Given the description of an element on the screen output the (x, y) to click on. 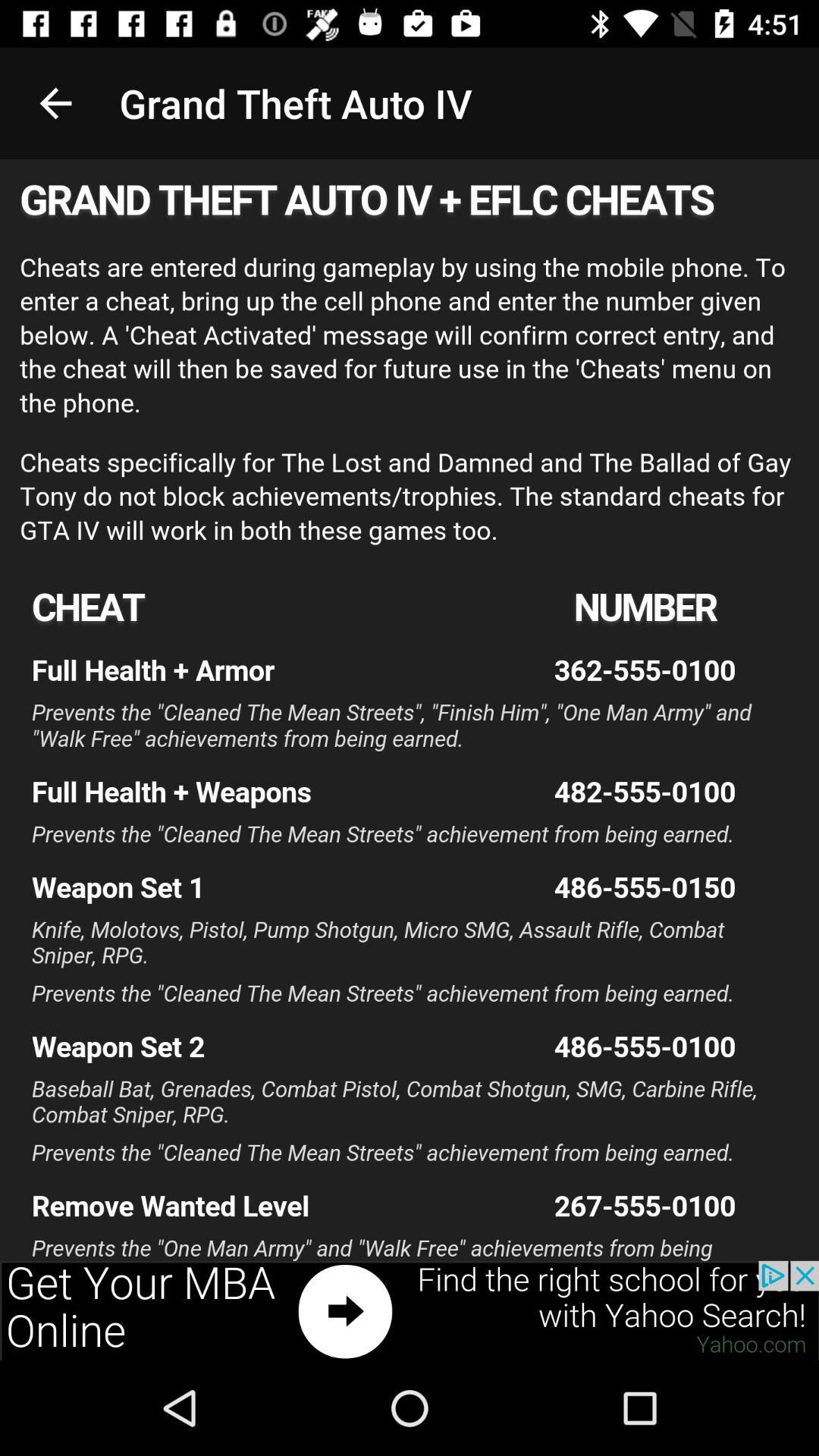
advertisement (409, 1310)
